Given the description of an element on the screen output the (x, y) to click on. 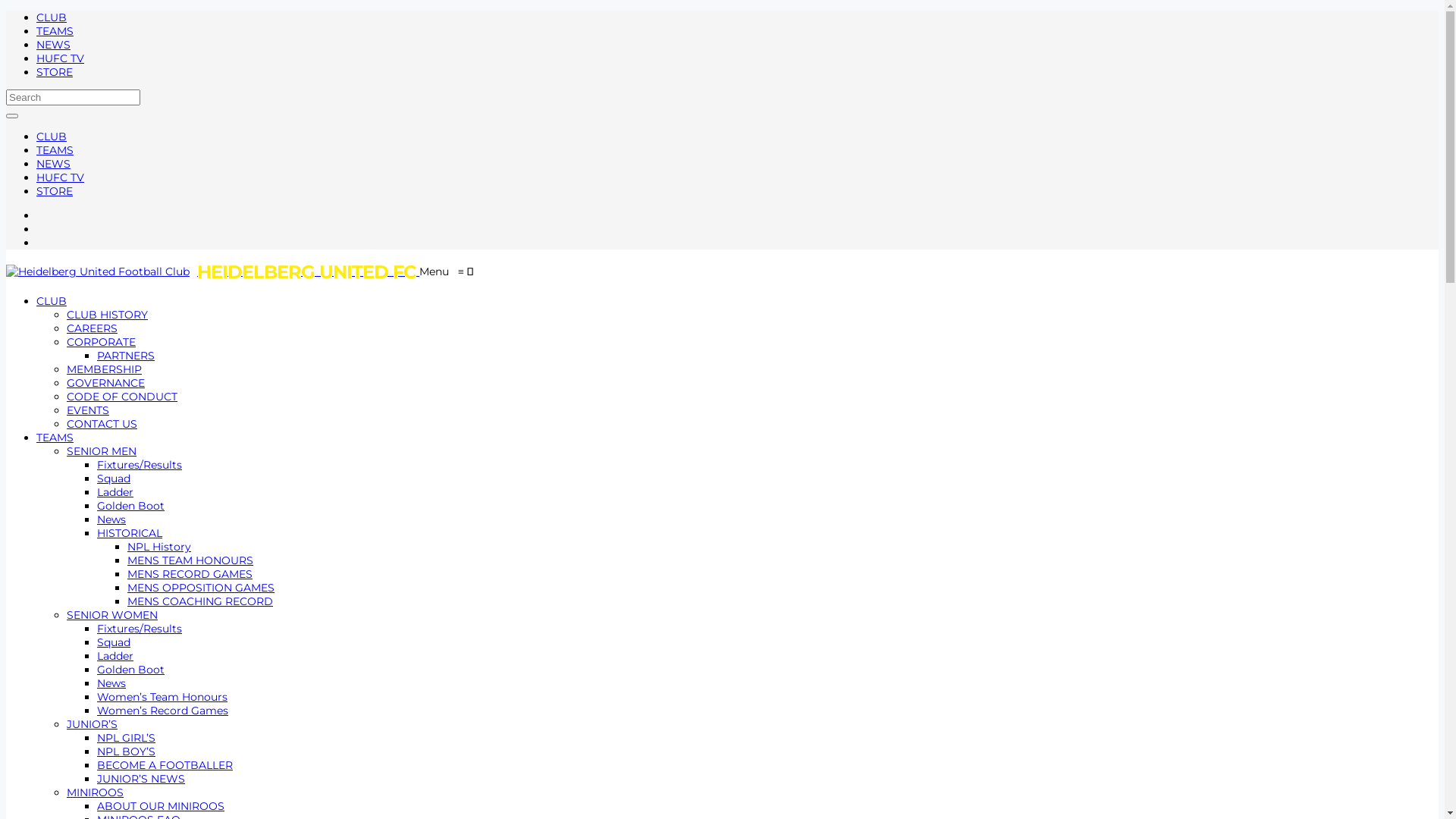
Ladder Element type: text (115, 491)
HISTORICAL Element type: text (129, 532)
HUFC TV Element type: text (60, 58)
CLUB Element type: text (51, 136)
TEAMS Element type: text (54, 437)
CODE OF CONDUCT Element type: text (121, 396)
Fixtures/Results Element type: text (139, 628)
CLUB Element type: text (51, 17)
STORE Element type: text (54, 190)
HEIDELBERG UNITED FC Element type: text (212, 271)
TEAMS Element type: text (54, 149)
ABOUT OUR MINIROOS Element type: text (160, 805)
Squad Element type: text (113, 478)
STORE Element type: text (54, 71)
MEMBERSHIP Element type: text (103, 369)
MENS OPPOSITION GAMES Element type: text (200, 587)
SENIOR MEN Element type: text (101, 451)
NPL History Element type: text (159, 546)
EVENTS Element type: text (87, 410)
SENIOR WOMEN Element type: text (111, 614)
MENS COACHING RECORD Element type: text (200, 601)
News Element type: text (111, 683)
Ladder Element type: text (115, 655)
NEWS Element type: text (53, 44)
Golden Boot Element type: text (130, 505)
Golden Boot Element type: text (130, 669)
TEAMS Element type: text (54, 30)
MINIROOS Element type: text (94, 792)
Fixtures/Results Element type: text (139, 464)
PARTNERS Element type: text (125, 355)
CLUB HISTORY Element type: text (106, 314)
NEWS Element type: text (53, 163)
Squad Element type: text (113, 642)
CORPORATE Element type: text (100, 341)
GOVERNANCE Element type: text (105, 382)
HUFC TV Element type: text (60, 177)
MENS RECORD GAMES Element type: text (189, 573)
News Element type: text (111, 519)
BECOME A FOOTBALLER Element type: text (164, 764)
MENS TEAM HONOURS Element type: text (190, 560)
CAREERS Element type: text (91, 328)
CLUB Element type: text (51, 300)
CONTACT US Element type: text (101, 423)
